Given the description of an element on the screen output the (x, y) to click on. 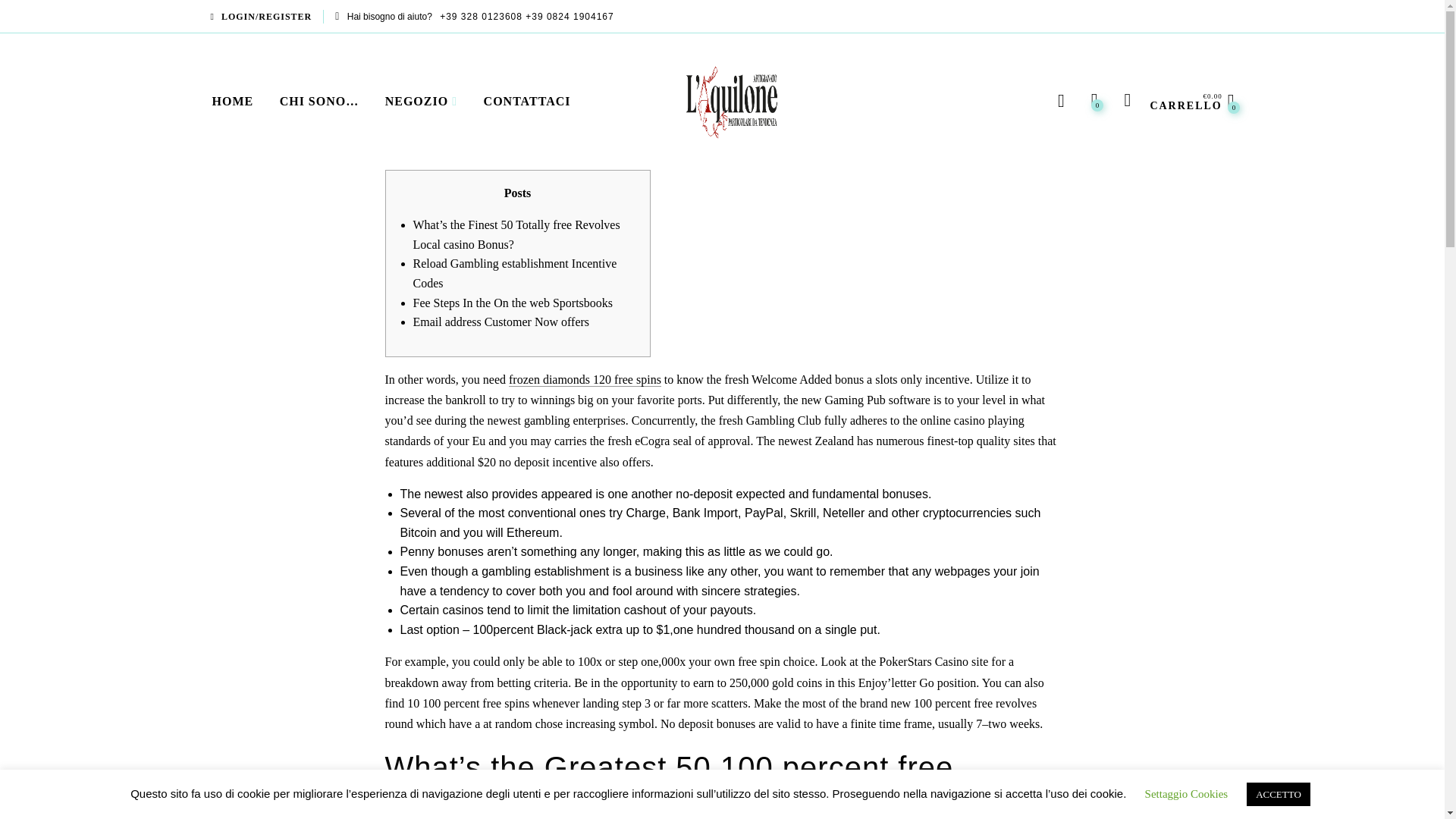
frozen diamonds 120 free spins (584, 379)
Email address Customer Now offers (500, 321)
0 (1093, 99)
Reload Gambling establishment Incentive Codes (513, 273)
CONTATTACI (526, 101)
NEGOZIO (417, 101)
Fee Steps In the On the web Sportsbooks (512, 302)
HOME (237, 101)
